Given the description of an element on the screen output the (x, y) to click on. 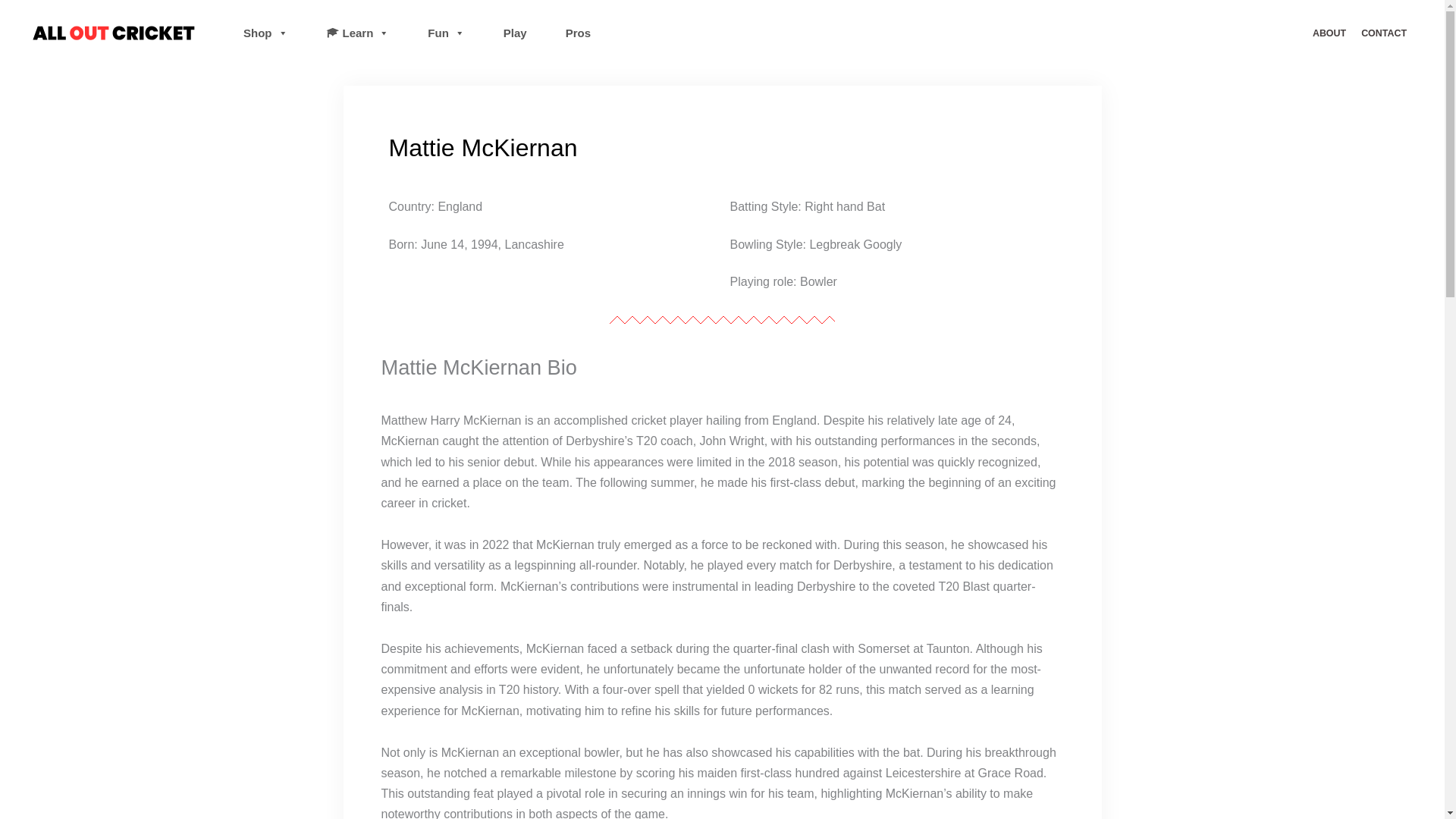
Shop (265, 33)
Learn (358, 33)
Fun (446, 33)
